Given the description of an element on the screen output the (x, y) to click on. 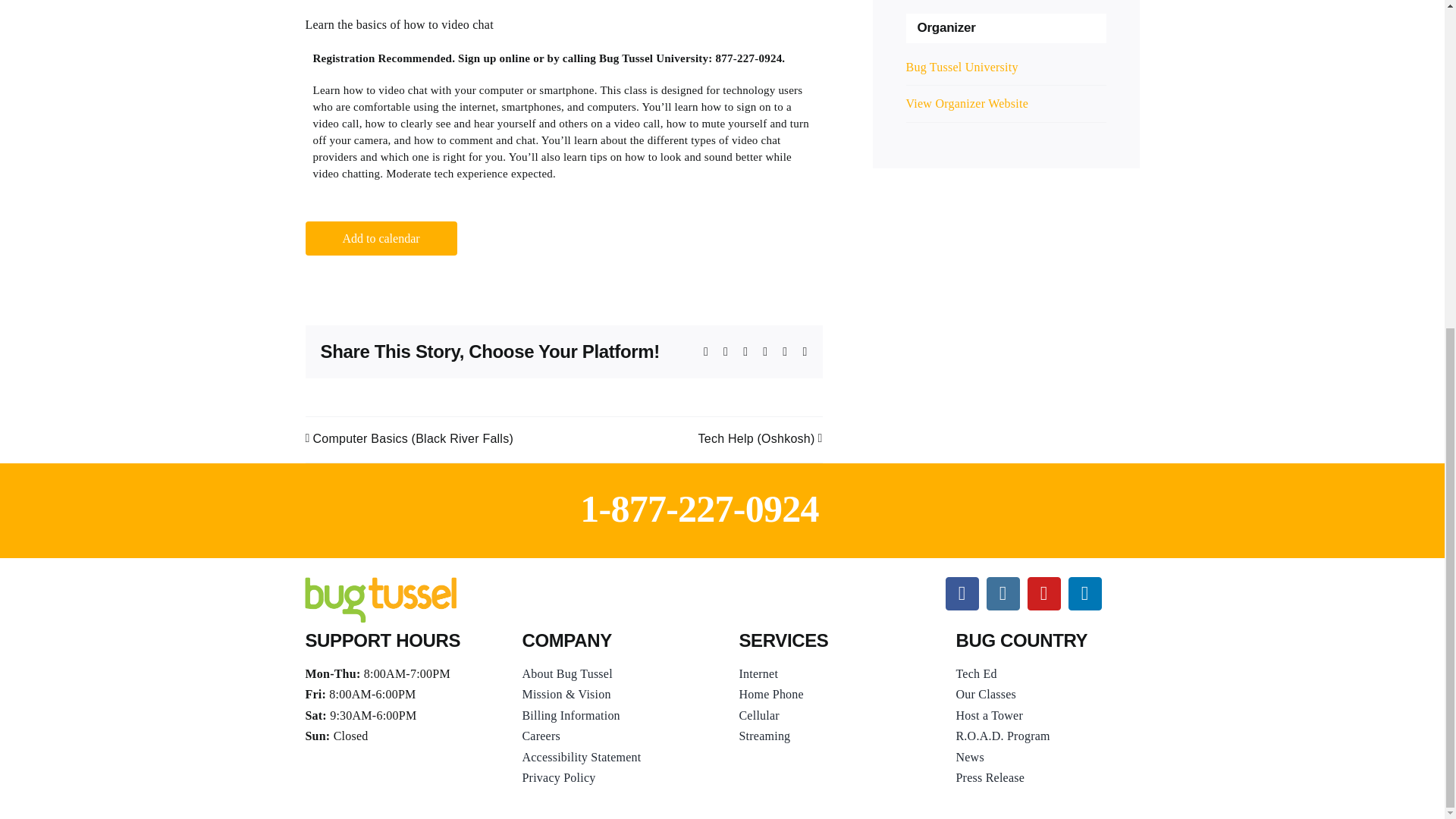
Instagram (1003, 593)
Btlogo 800 (380, 599)
Facebook (961, 593)
YouTube (1044, 593)
LinkedIn (1085, 593)
Bug Tussel University (961, 66)
